Given the description of an element on the screen output the (x, y) to click on. 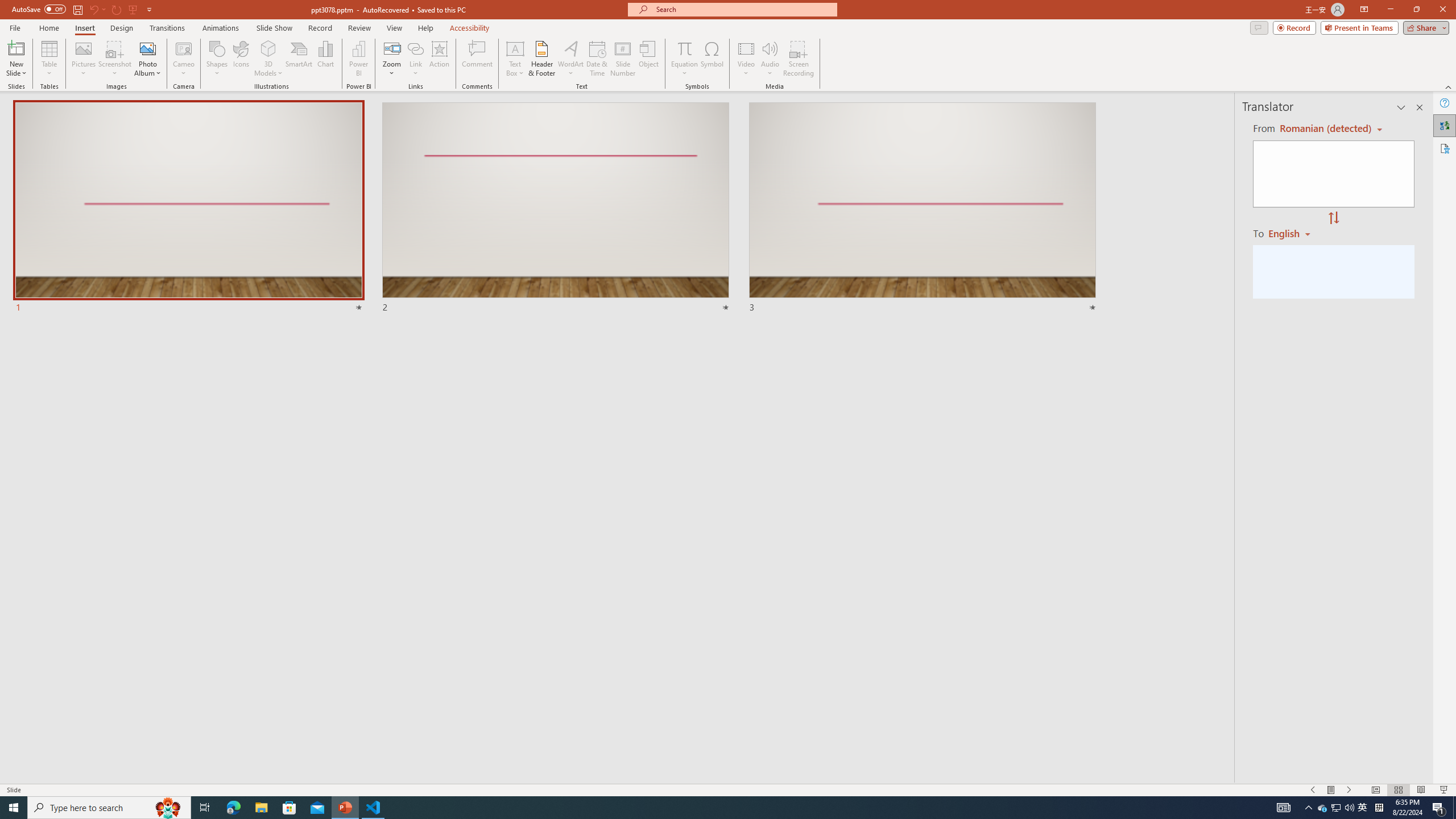
Comment (476, 58)
